Given the description of an element on the screen output the (x, y) to click on. 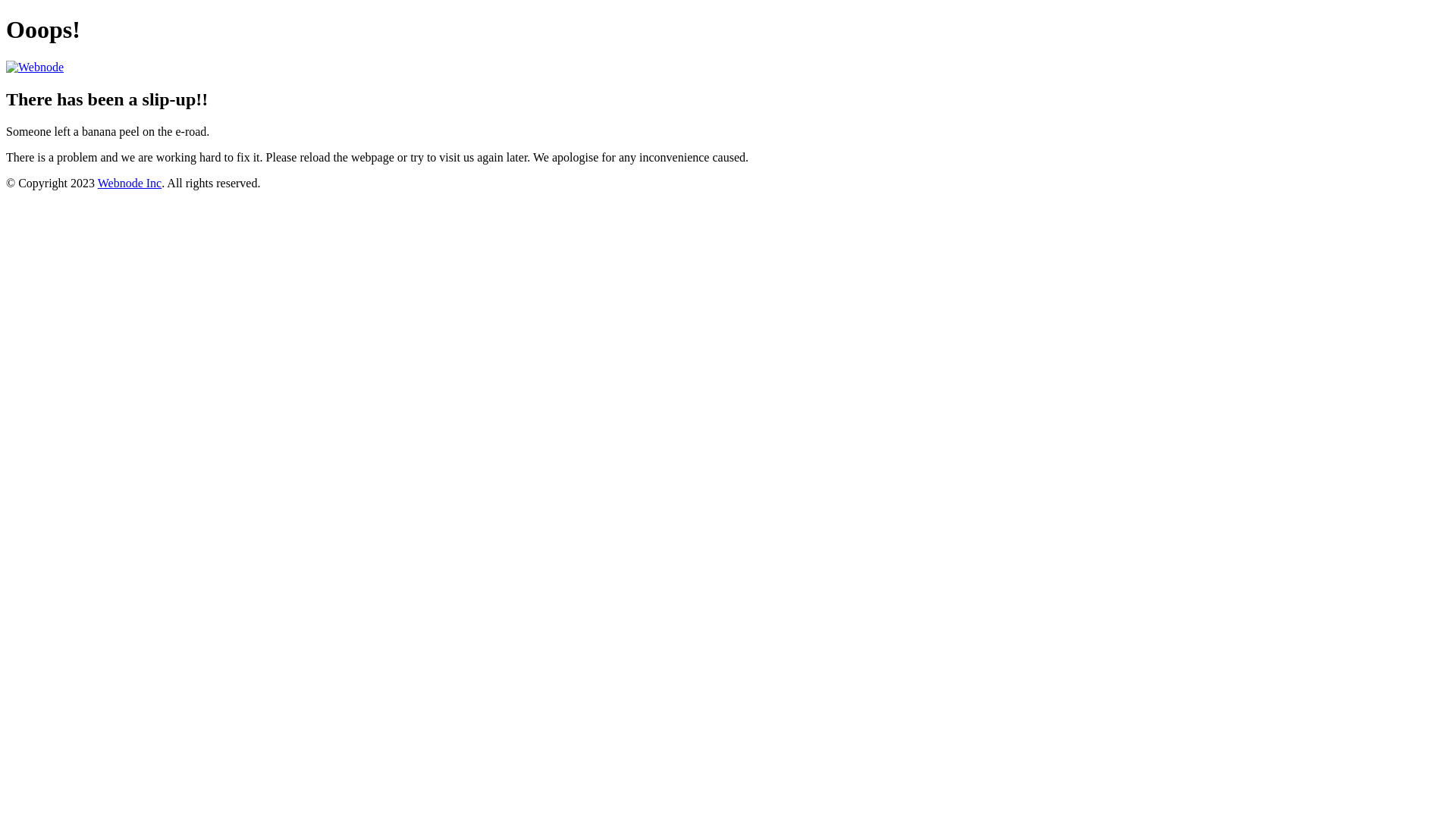
Webnode Inc Element type: text (129, 182)
